Given the description of an element on the screen output the (x, y) to click on. 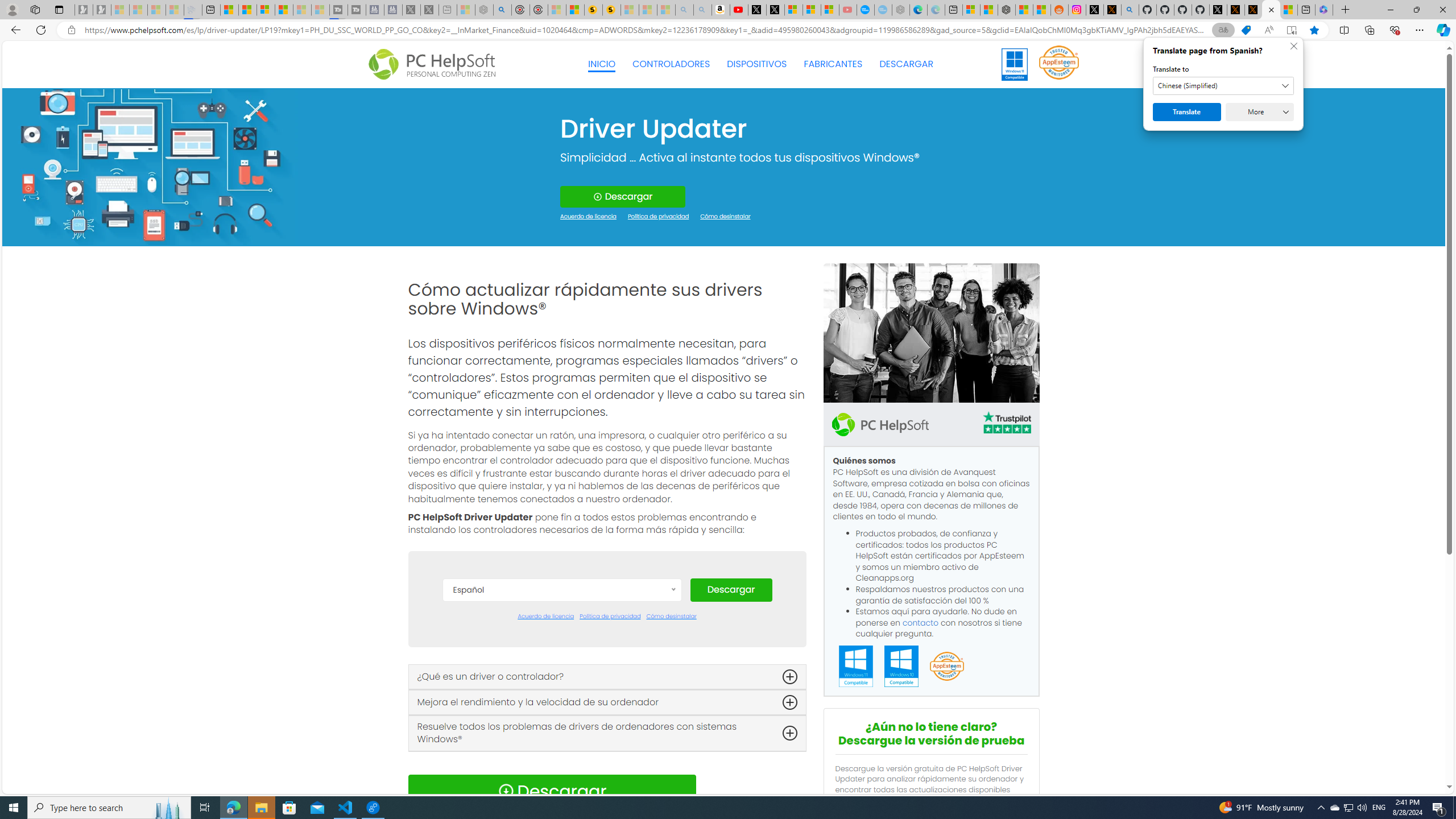
Nederlands (561, 763)
App Esteem (945, 666)
Download Icon (505, 791)
github - Search (1130, 9)
Profile / X (1217, 9)
FABRICANTES (833, 64)
Norsk (561, 780)
